Given the description of an element on the screen output the (x, y) to click on. 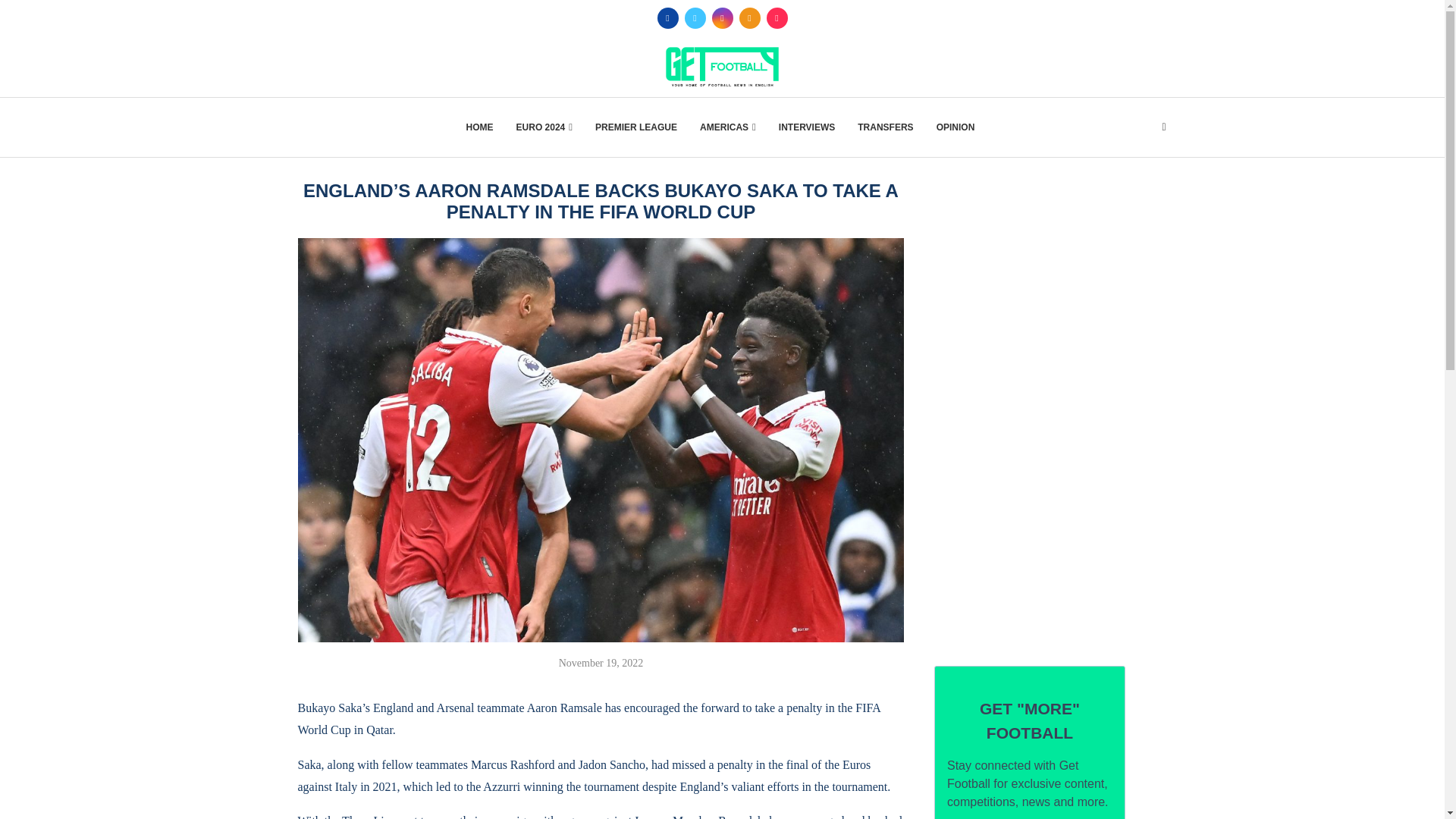
TRANSFERS (884, 127)
INTERVIEWS (806, 127)
AMERICAS (727, 127)
PREMIER LEAGUE (636, 127)
EURO 2024 (544, 127)
